Given the description of an element on the screen output the (x, y) to click on. 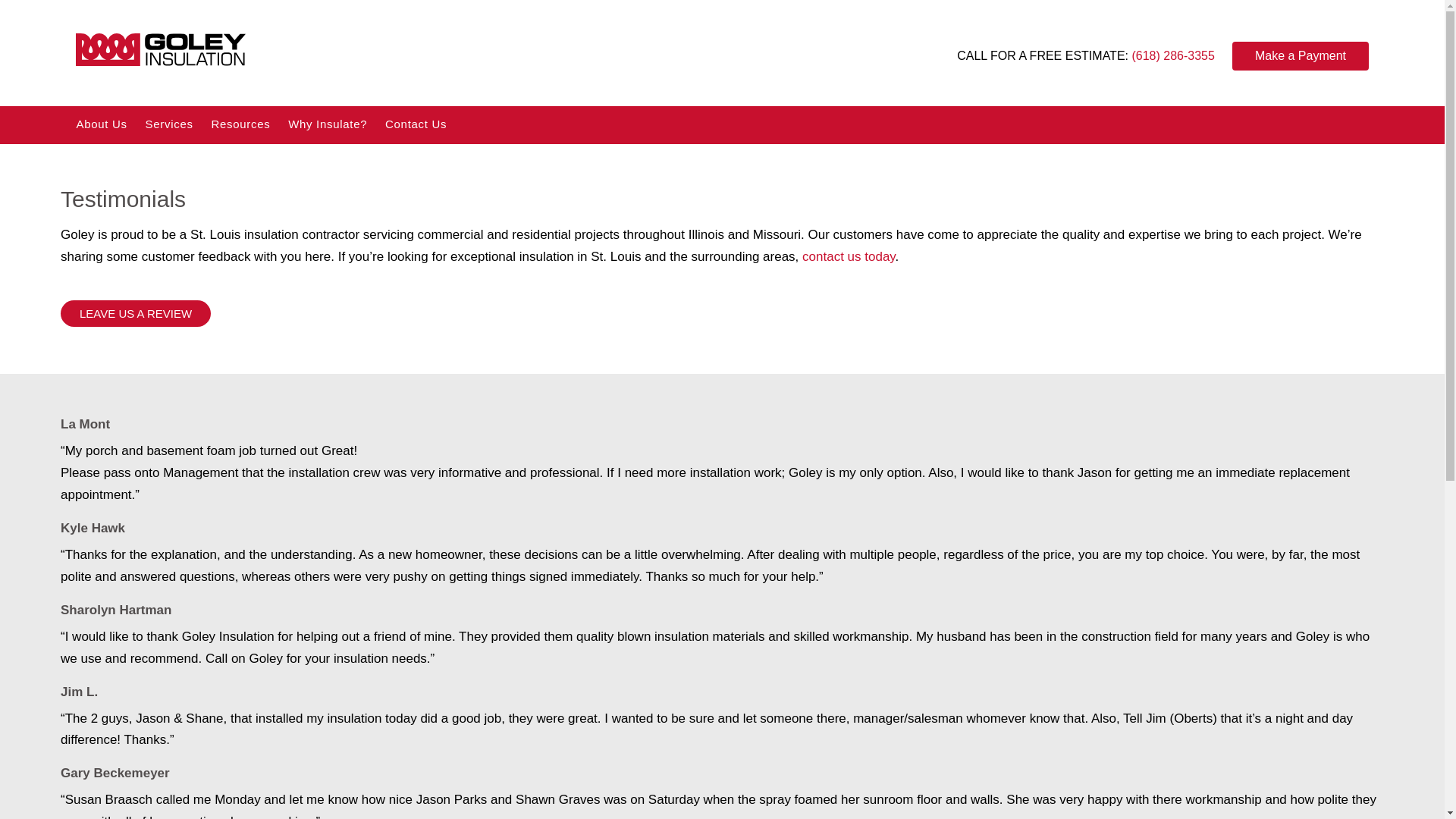
About Us (103, 123)
Resources (240, 123)
Make a Payment (1299, 56)
Services (169, 123)
